Given the description of an element on the screen output the (x, y) to click on. 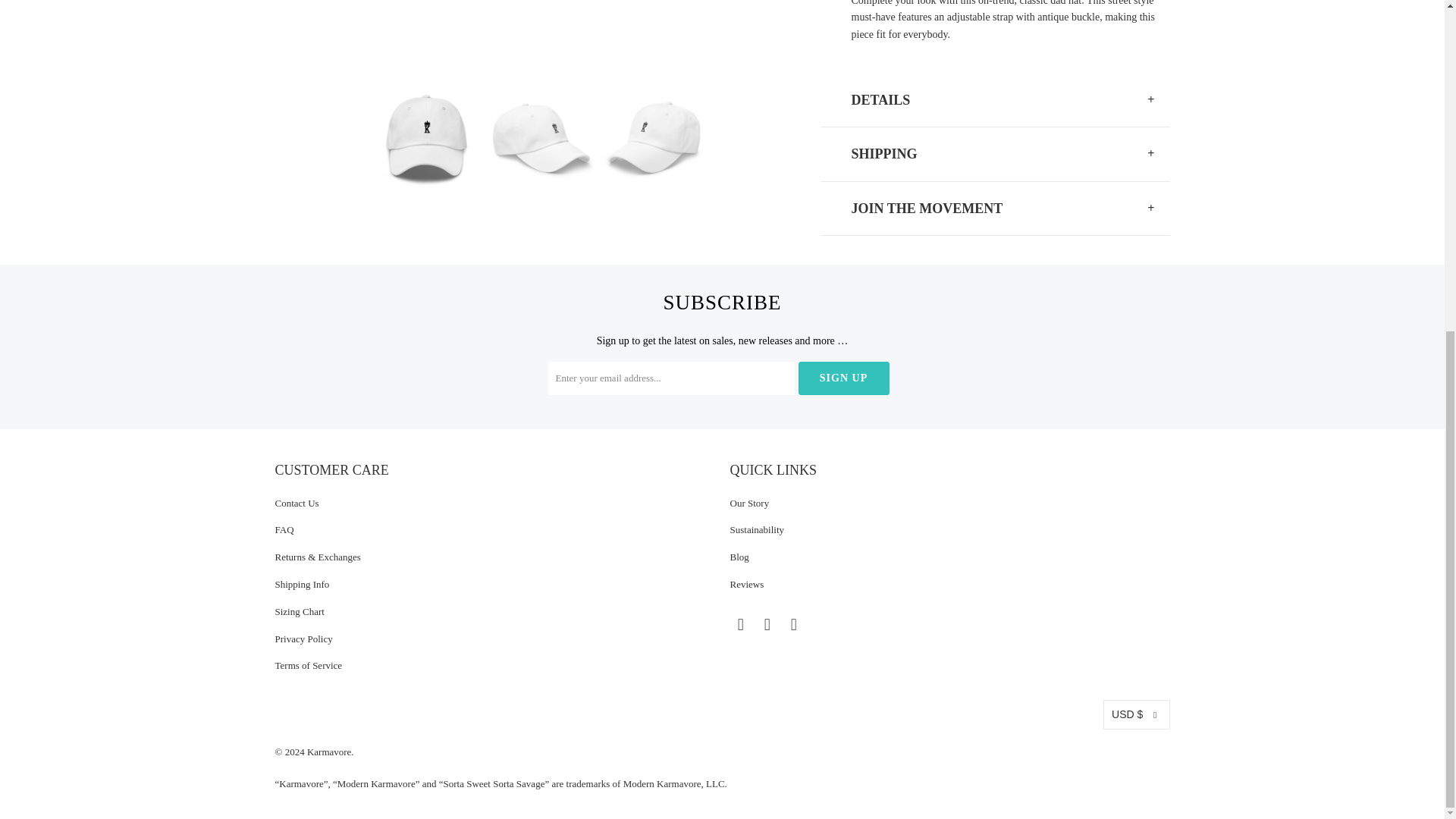
Karmavore on Pinterest (766, 624)
Karmavore on Instagram (794, 624)
Karmavore on Facebook (740, 624)
Karmavore on Tiktok (815, 622)
Sign Up (842, 377)
